Given the description of an element on the screen output the (x, y) to click on. 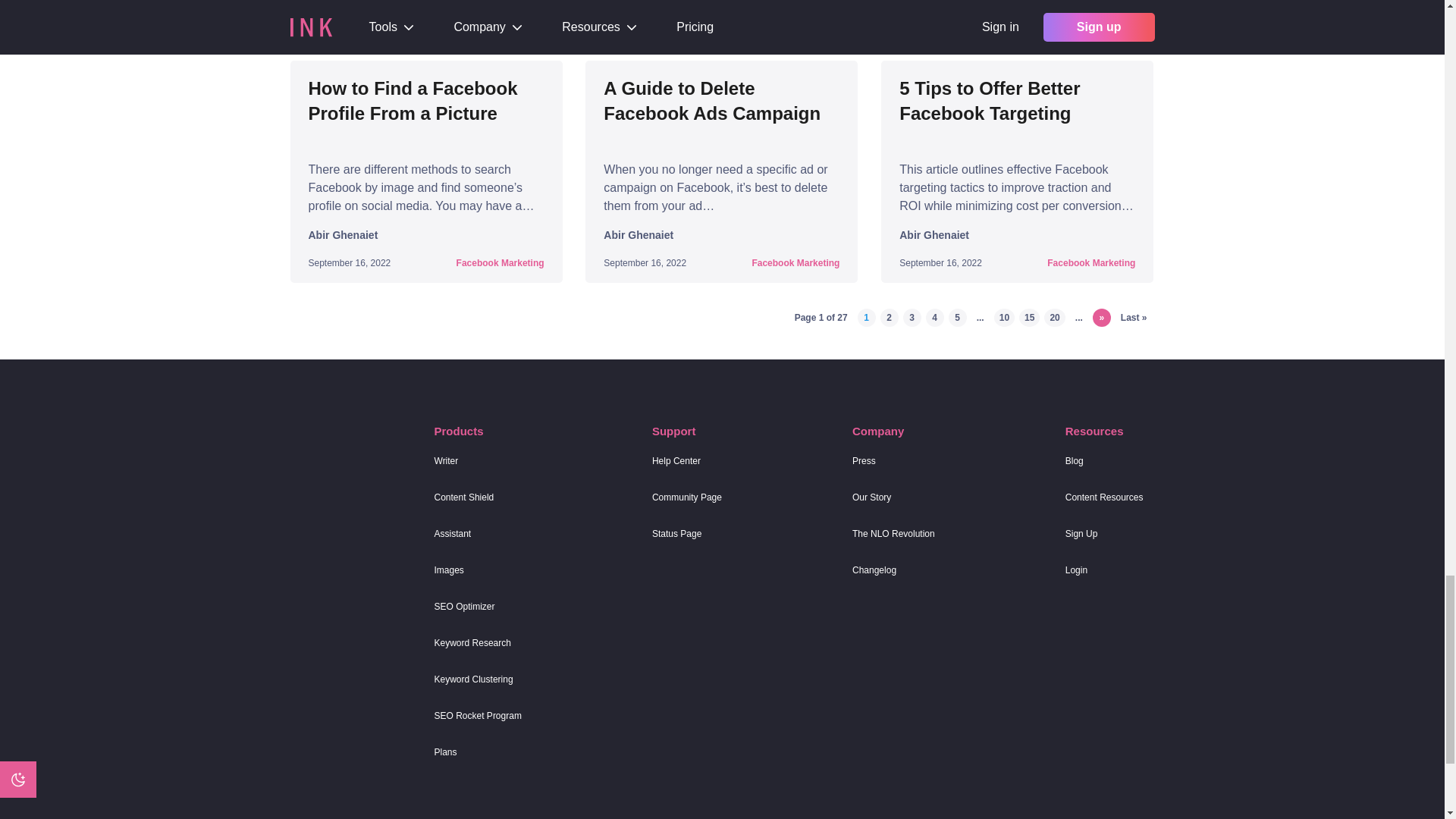
Page 3 (911, 317)
Page 4 (934, 317)
Page 20 (1053, 317)
Page 10 (1004, 317)
Page 2 (889, 317)
Page 5 (957, 317)
Page 15 (1029, 317)
